Given the description of an element on the screen output the (x, y) to click on. 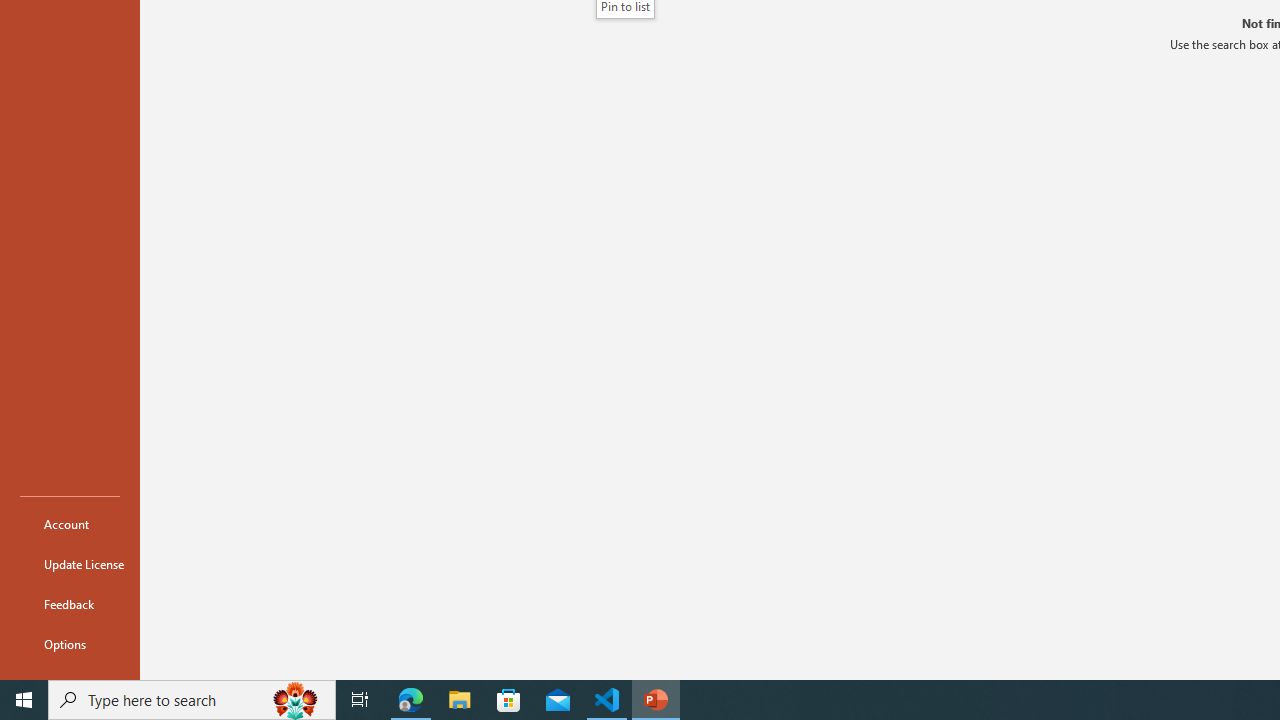
Feedback (69, 603)
Update License (69, 563)
Account (69, 523)
Options (69, 643)
